Given the description of an element on the screen output the (x, y) to click on. 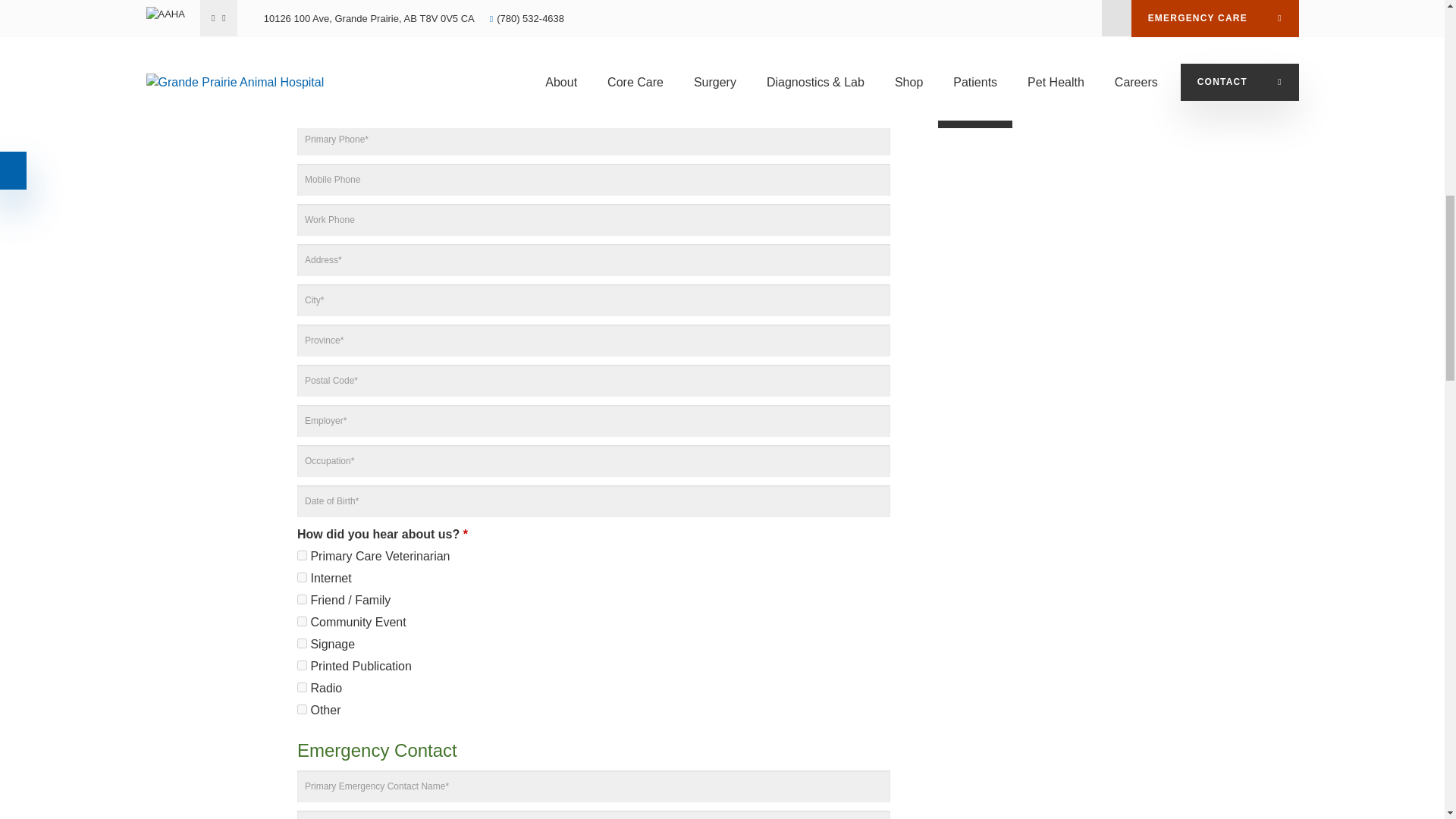
5 (302, 665)
4 (302, 643)
2 (302, 577)
0 (302, 555)
1 (302, 599)
3 (302, 621)
